Given the description of an element on the screen output the (x, y) to click on. 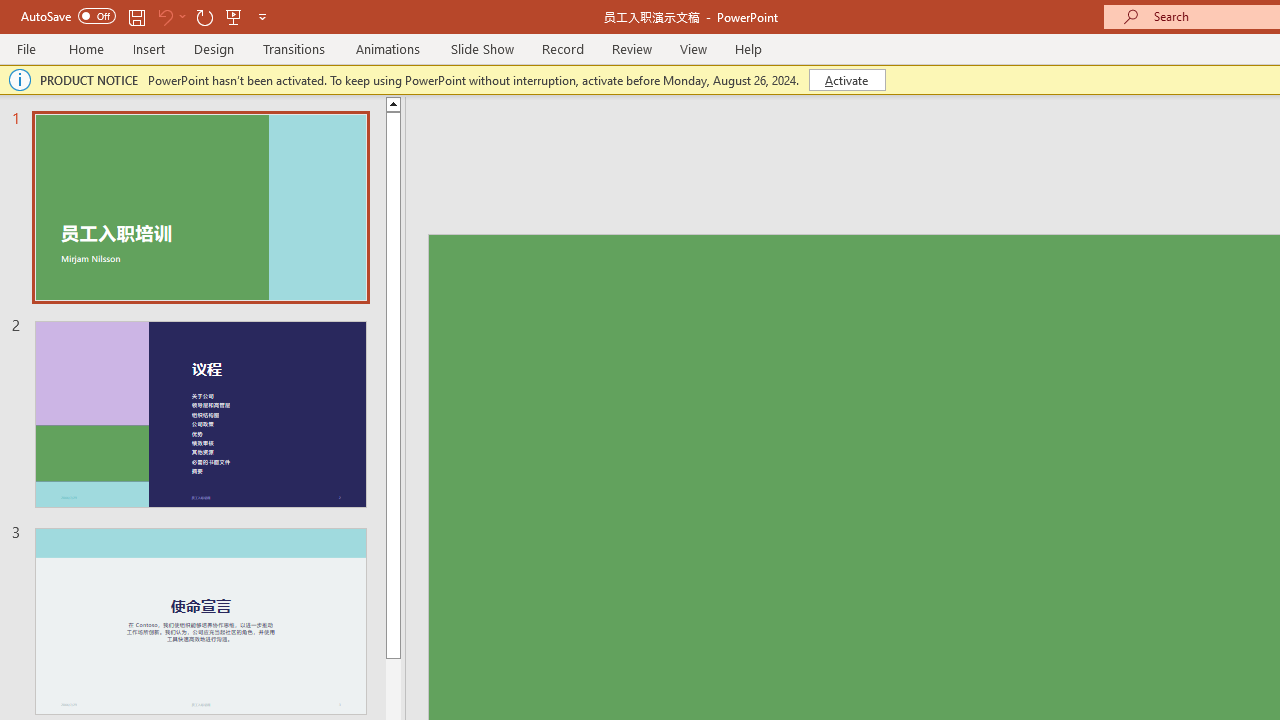
Activate (846, 79)
